Given the description of an element on the screen output the (x, y) to click on. 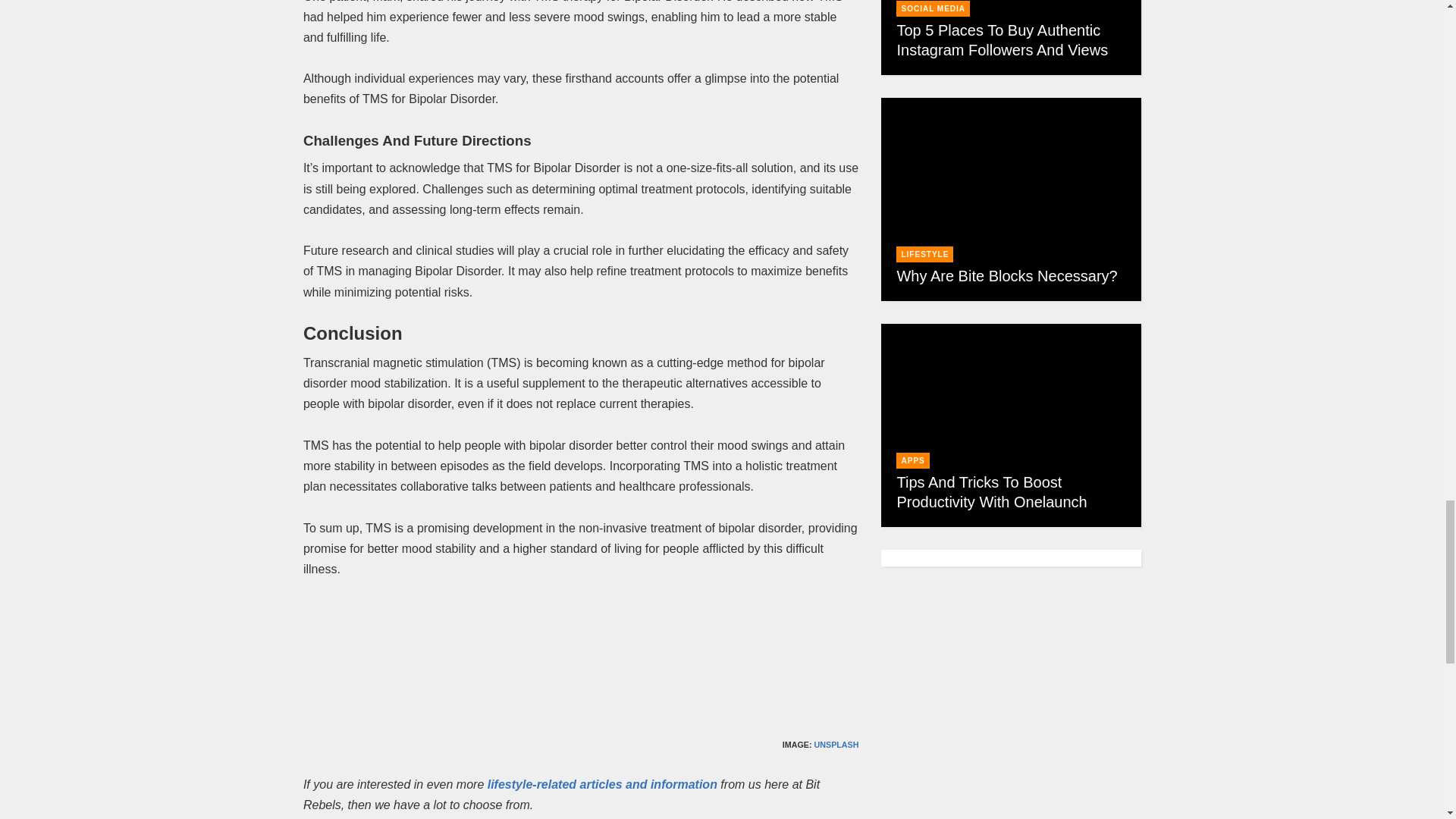
UNSPLASH (836, 744)
lifestyle-related articles and information (602, 784)
TMS Bipolar Disorder Novel Approach Mood Stabilization (580, 656)
